Given the description of an element on the screen output the (x, y) to click on. 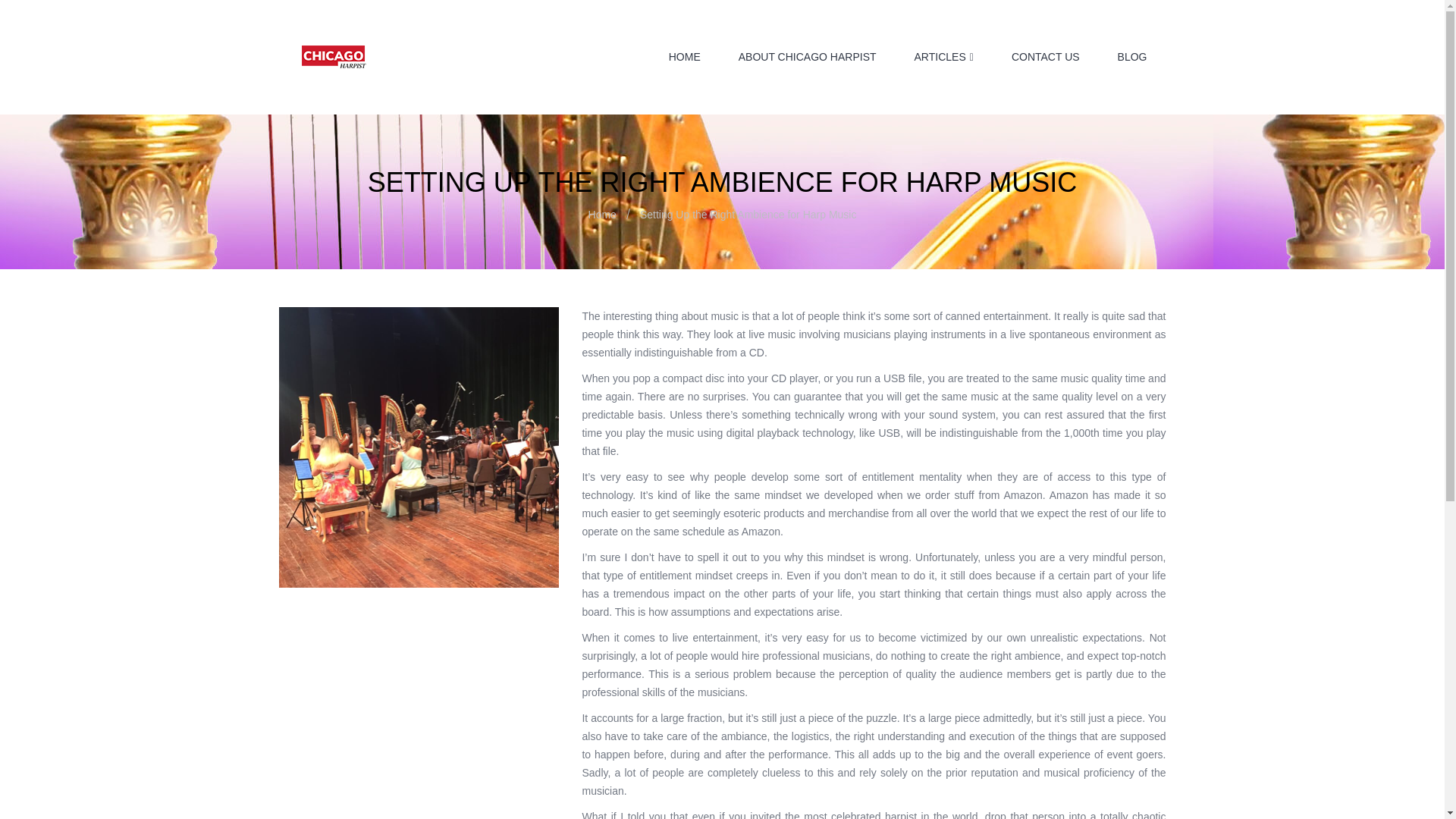
Home (395, 463)
CONTACT US (1045, 56)
Subscribe (721, 743)
Contact Us (407, 627)
ARTICLES (943, 57)
HOME (684, 56)
Articles (398, 500)
Blog (392, 645)
ABOUT CHICAGO HARPIST (807, 56)
Setting Up the Right Ambience for Harp Music (474, 582)
Home (601, 214)
How to Find the Right Harpist (451, 609)
Subscribe (721, 743)
BLOG (1132, 56)
Achieving Peace with Relaxing Harp Music (482, 518)
